Given the description of an element on the screen output the (x, y) to click on. 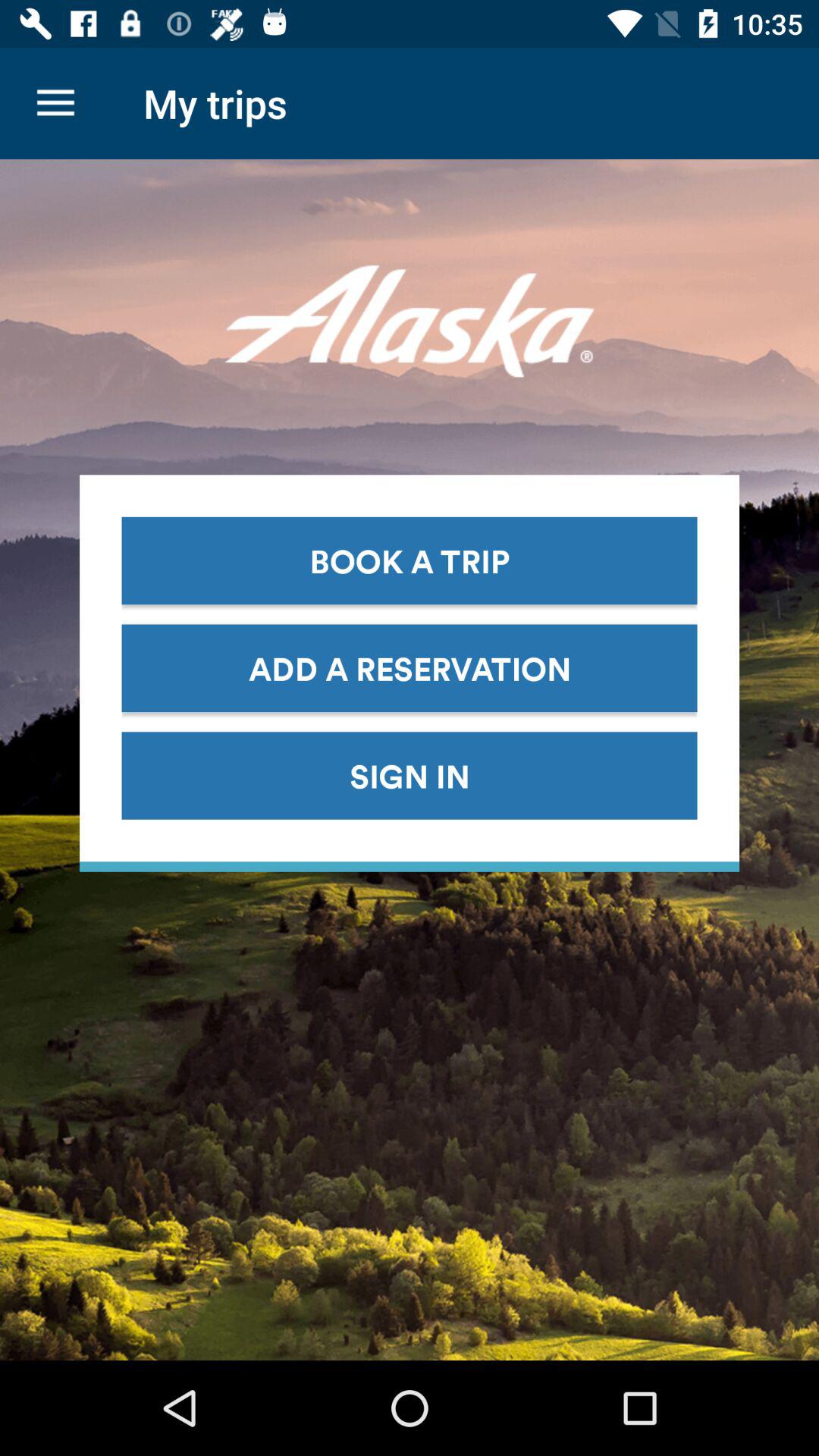
select book a trip icon (409, 560)
